Given the description of an element on the screen output the (x, y) to click on. 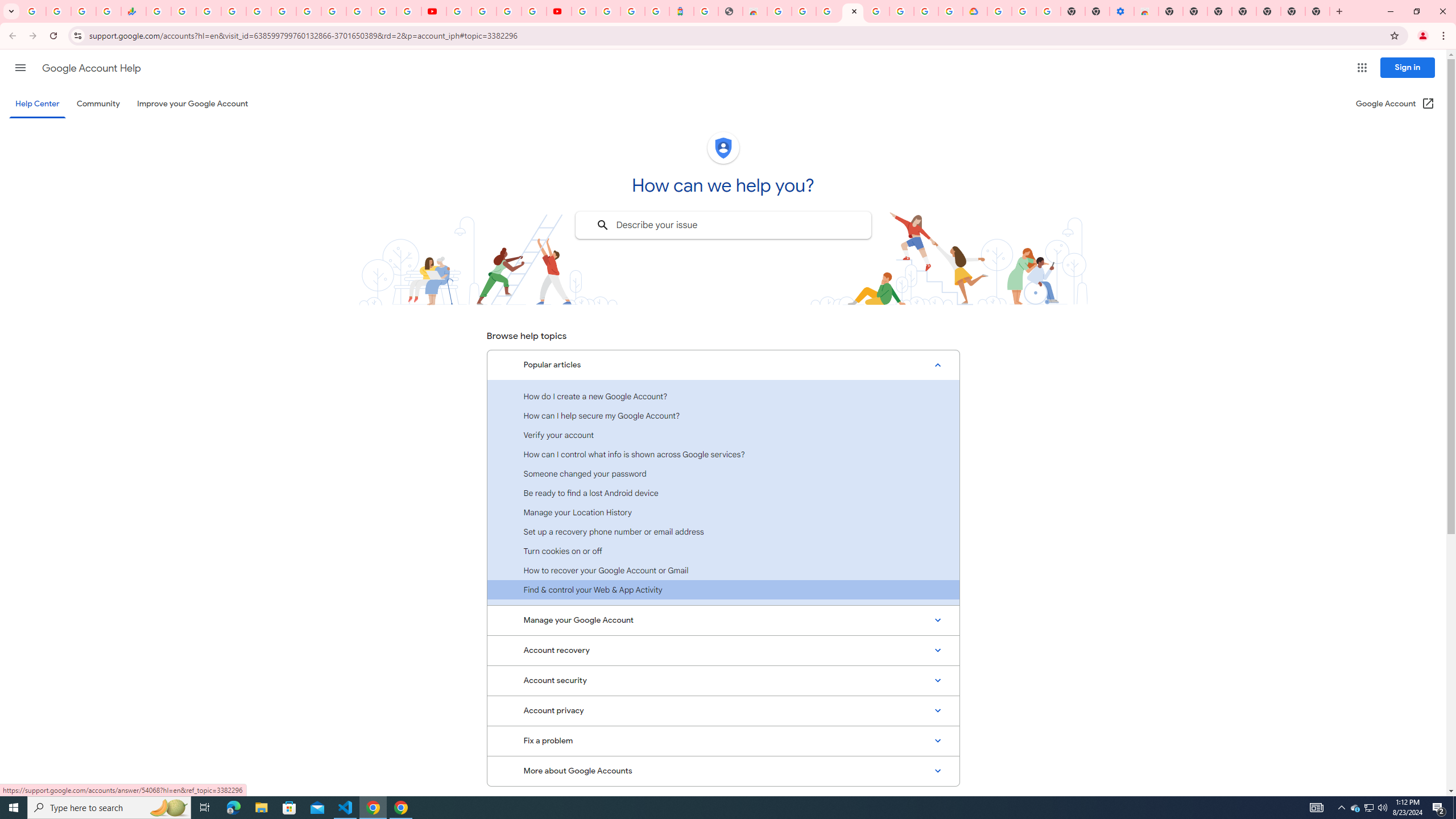
How do I create a new Google Account? (722, 396)
Improve your Google Account (192, 103)
Set up a recovery phone number or email address (722, 531)
Turn cookies on or off (722, 551)
Sign in - Google Accounts (583, 11)
How to recover your Google Account or Gmail (722, 570)
